Given the description of an element on the screen output the (x, y) to click on. 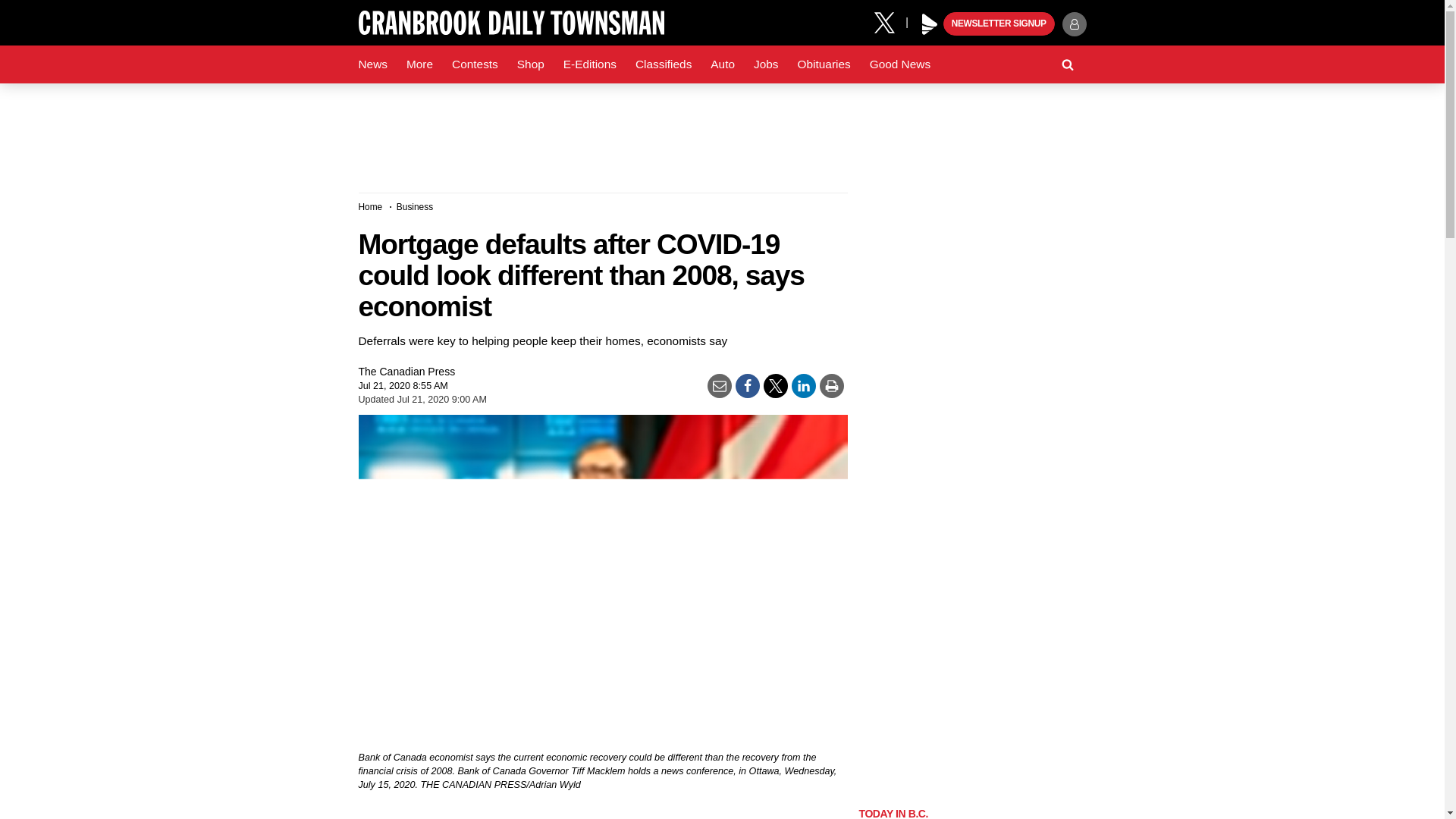
Play (929, 24)
Black Press Media (929, 24)
NEWSLETTER SIGNUP (998, 24)
X (889, 21)
News (372, 64)
